Given the description of an element on the screen output the (x, y) to click on. 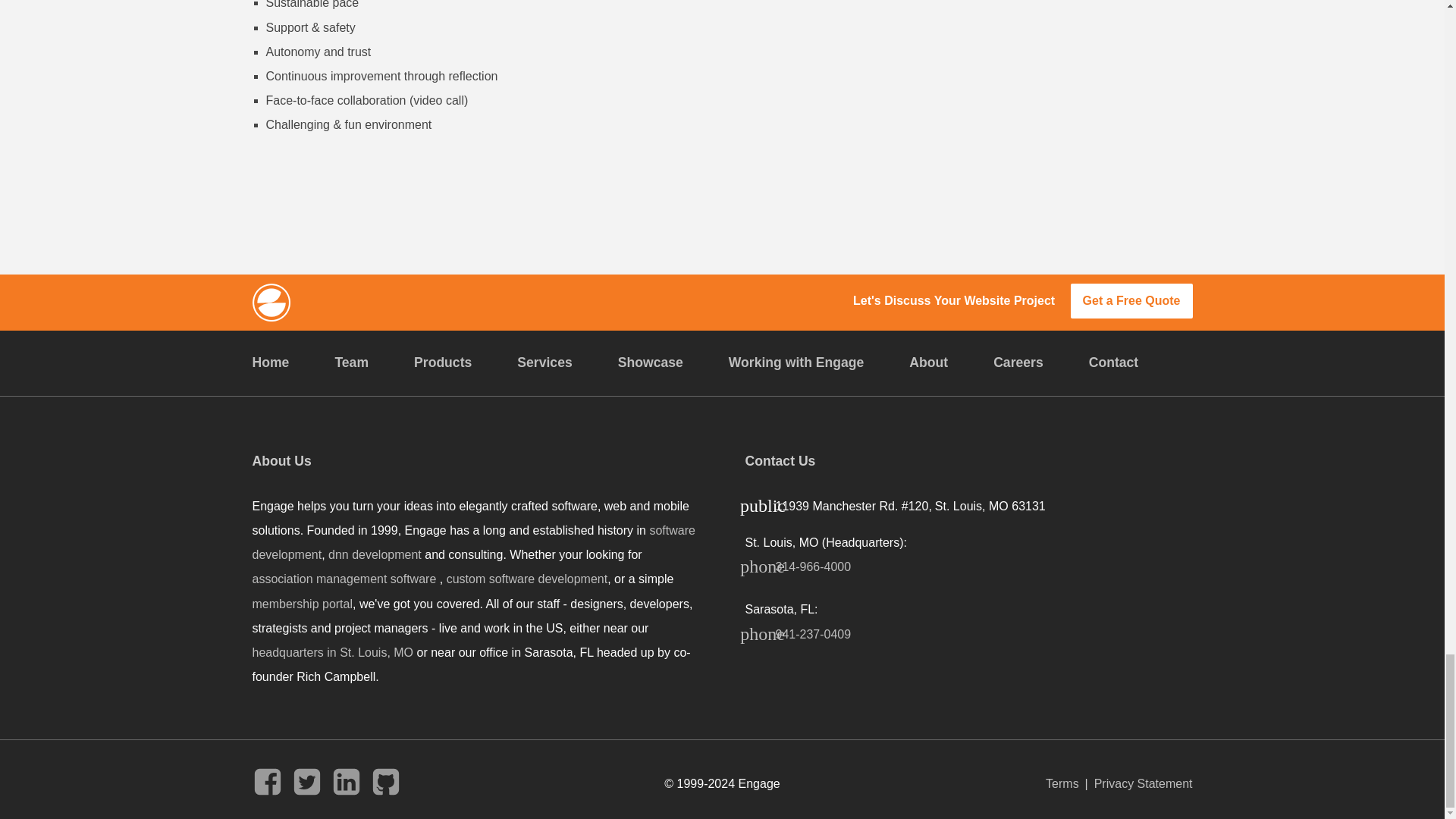
Get a Free Quote (1131, 301)
